Given the description of an element on the screen output the (x, y) to click on. 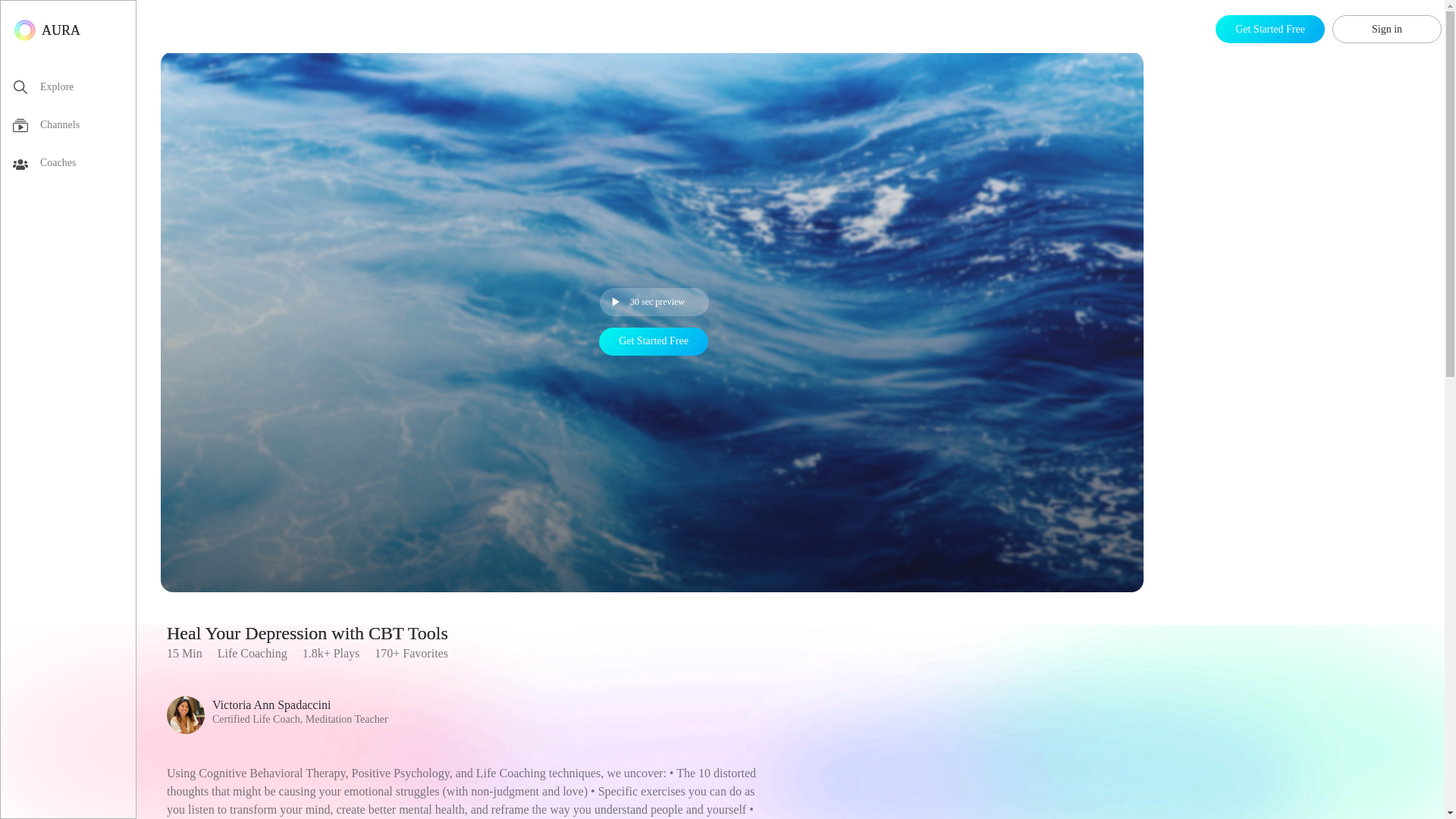
Channels (74, 127)
AURA (46, 29)
Explore (74, 89)
Coaches (74, 166)
